Given the description of an element on the screen output the (x, y) to click on. 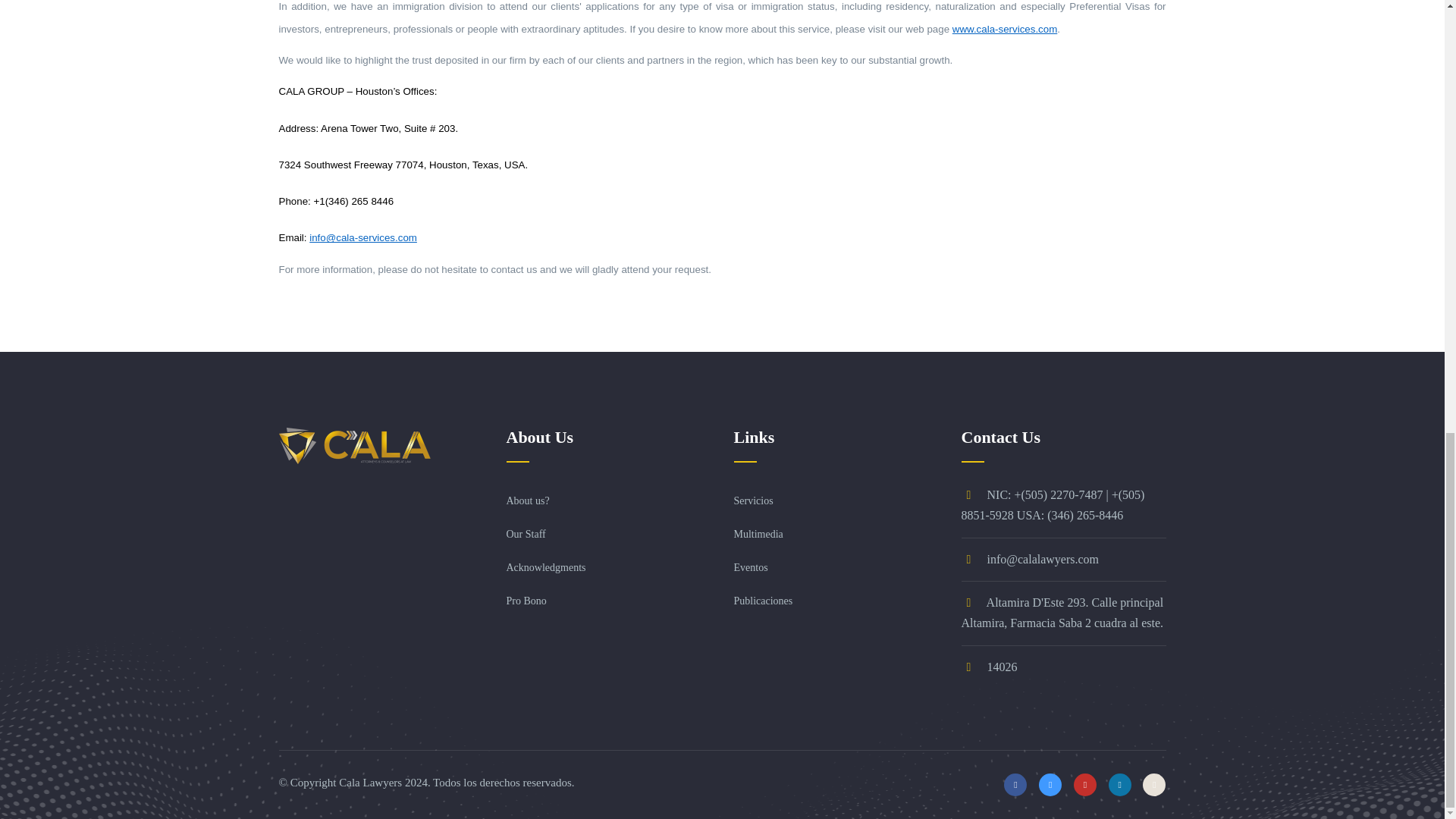
Acknowledgments (546, 567)
About us? (528, 500)
www.cala-services.com (1005, 28)
Eventos (750, 567)
Multimedia (758, 533)
Publicaciones (763, 600)
Servicios (753, 500)
Pro Bono (526, 600)
Our Staff (526, 533)
